Given the description of an element on the screen output the (x, y) to click on. 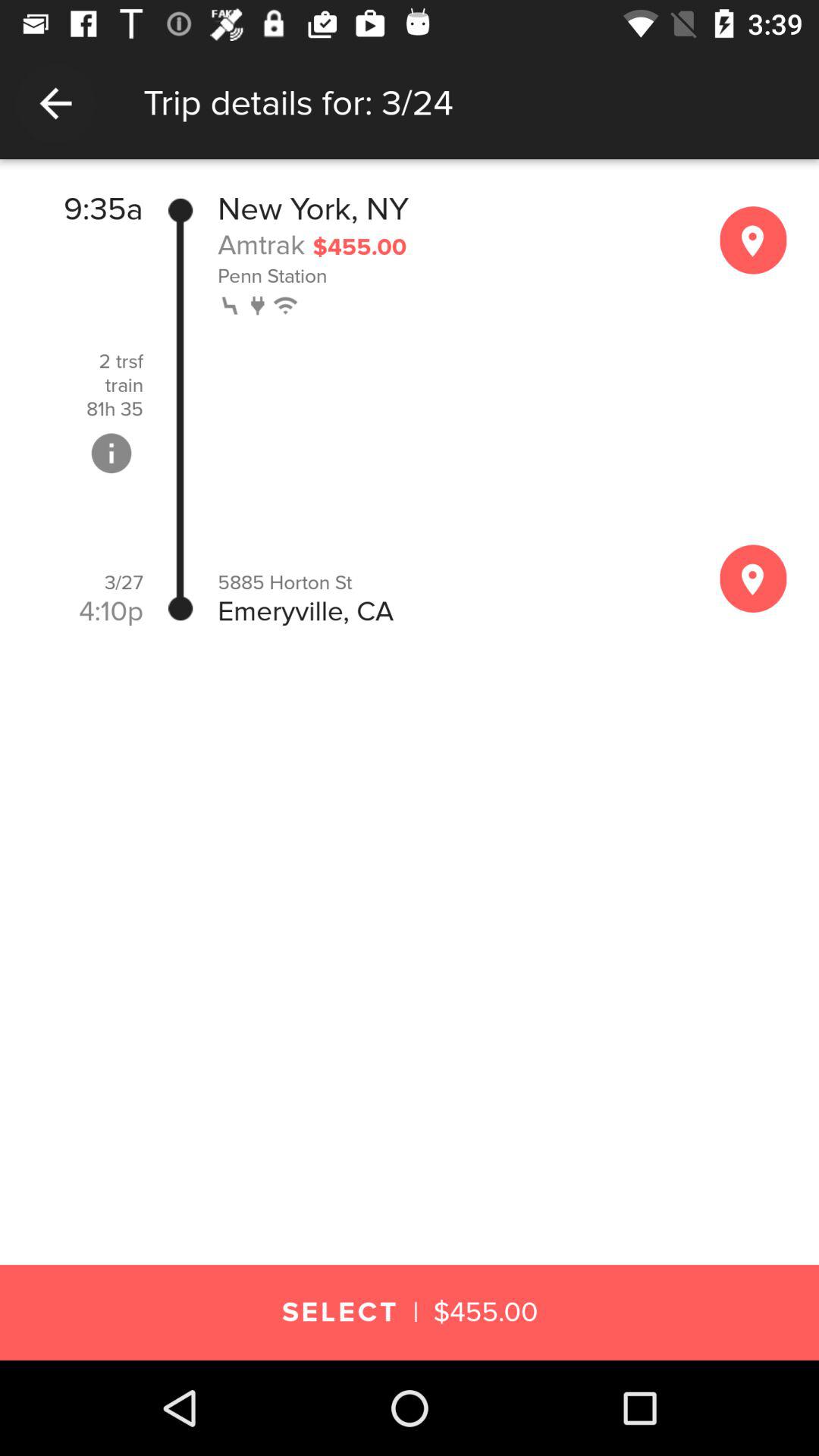
turn off amtrak (260, 244)
